Given the description of an element on the screen output the (x, y) to click on. 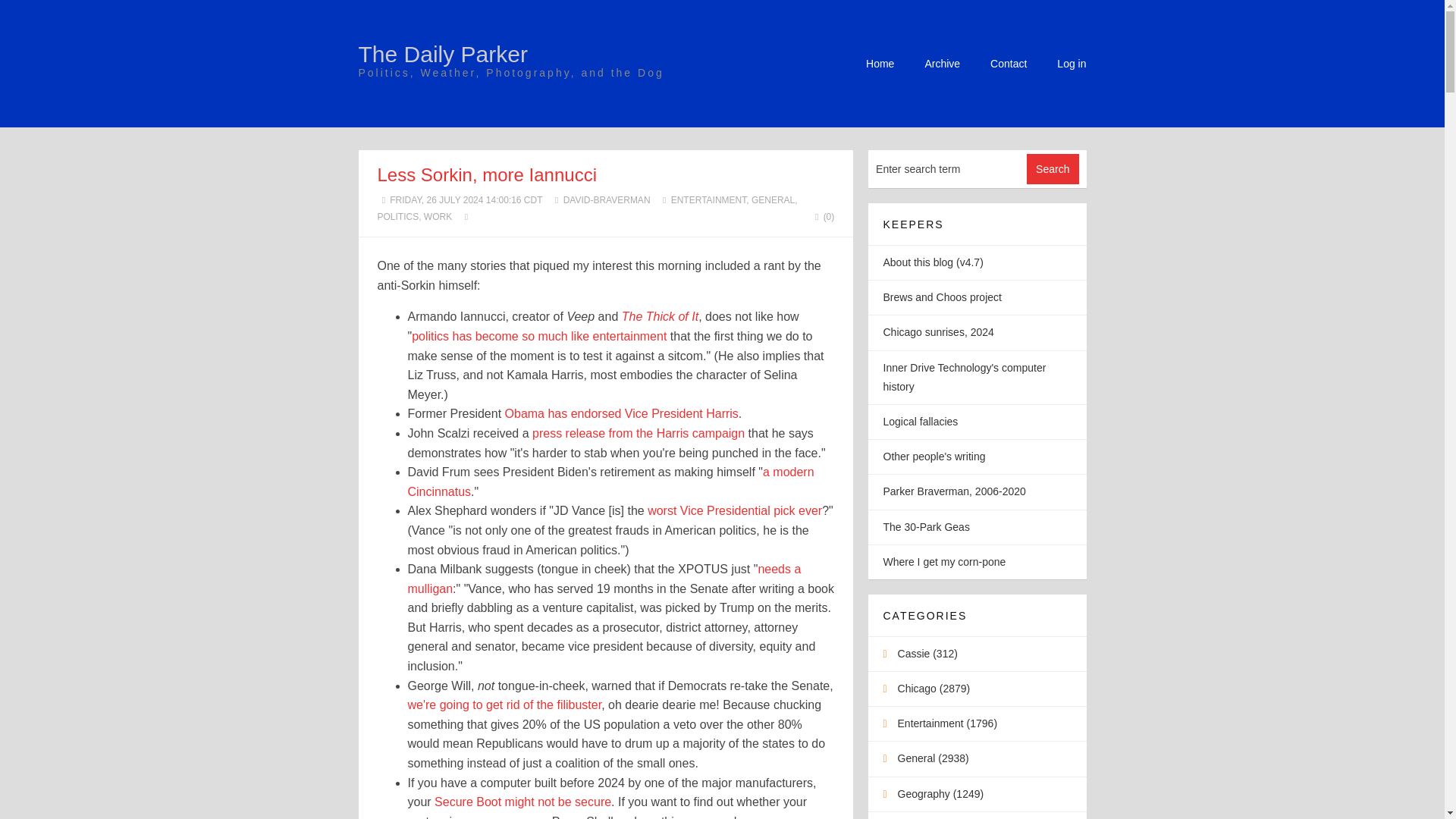
Search (1053, 168)
a modern Cincinnatus (610, 481)
Contact (1008, 63)
we're going to get rid of the filibuster (504, 704)
Log in (1071, 63)
needs a mulligan (604, 578)
The Daily Parker (442, 53)
ENTERTAINMENT (708, 199)
Open a map of the location where this post was written (466, 216)
worst Vice Presidential pick ever (734, 510)
Obama has endorsed Vice President Harris (621, 413)
Less Sorkin, more Iannucci (486, 174)
Archive (941, 63)
Secure Boot might not be secure (522, 801)
DAVID-BRAVERMAN (606, 199)
